Given the description of an element on the screen output the (x, y) to click on. 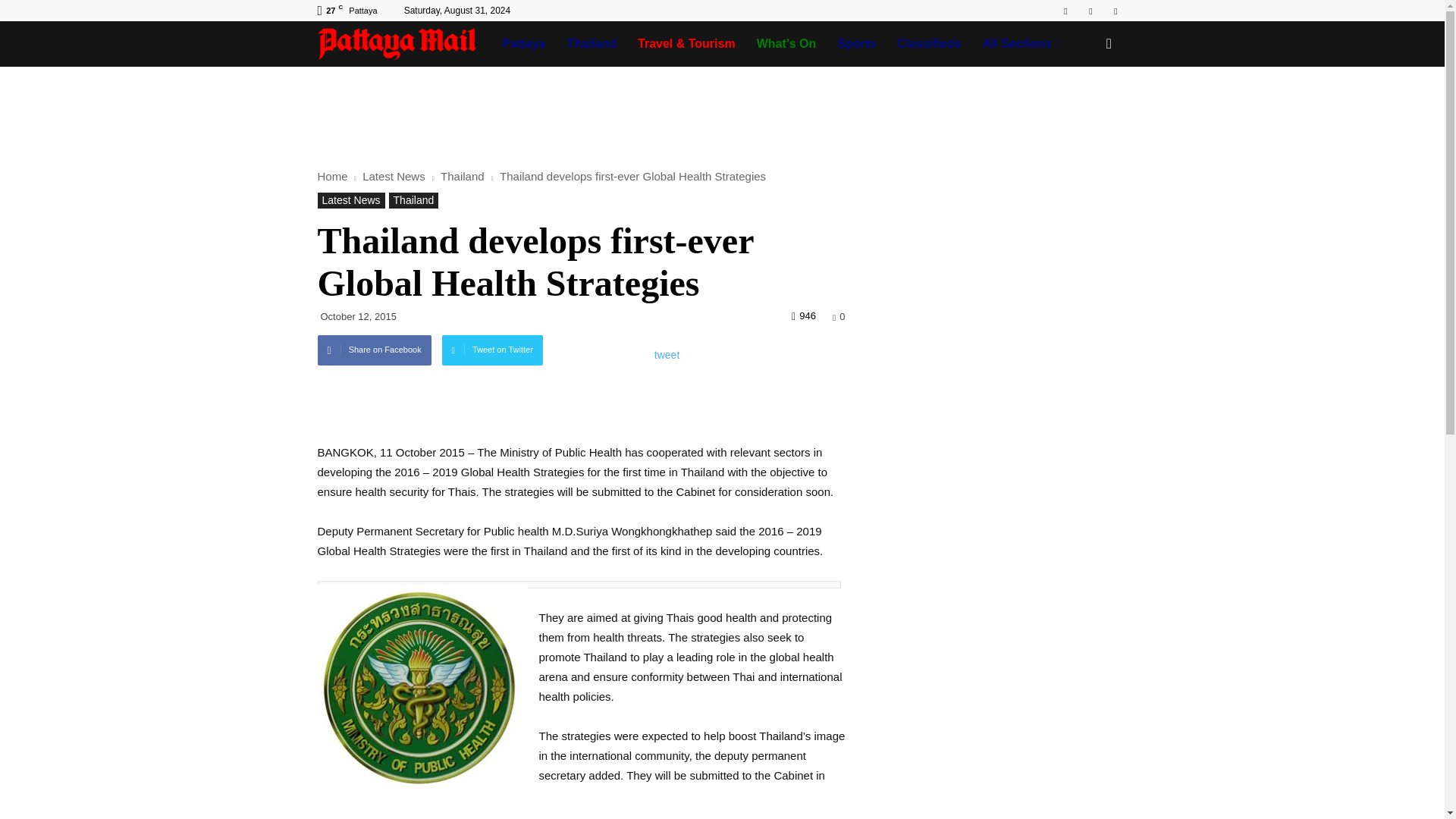
View all posts in Thailand (464, 175)
Pattaya Mail (404, 44)
Thailand (591, 43)
Sports (856, 43)
Linkedin (1090, 10)
Pattaya (524, 43)
View all posts in Latest News (395, 175)
Classifieds (928, 43)
Twitter (1114, 10)
All Sections (1023, 43)
